Given the description of an element on the screen output the (x, y) to click on. 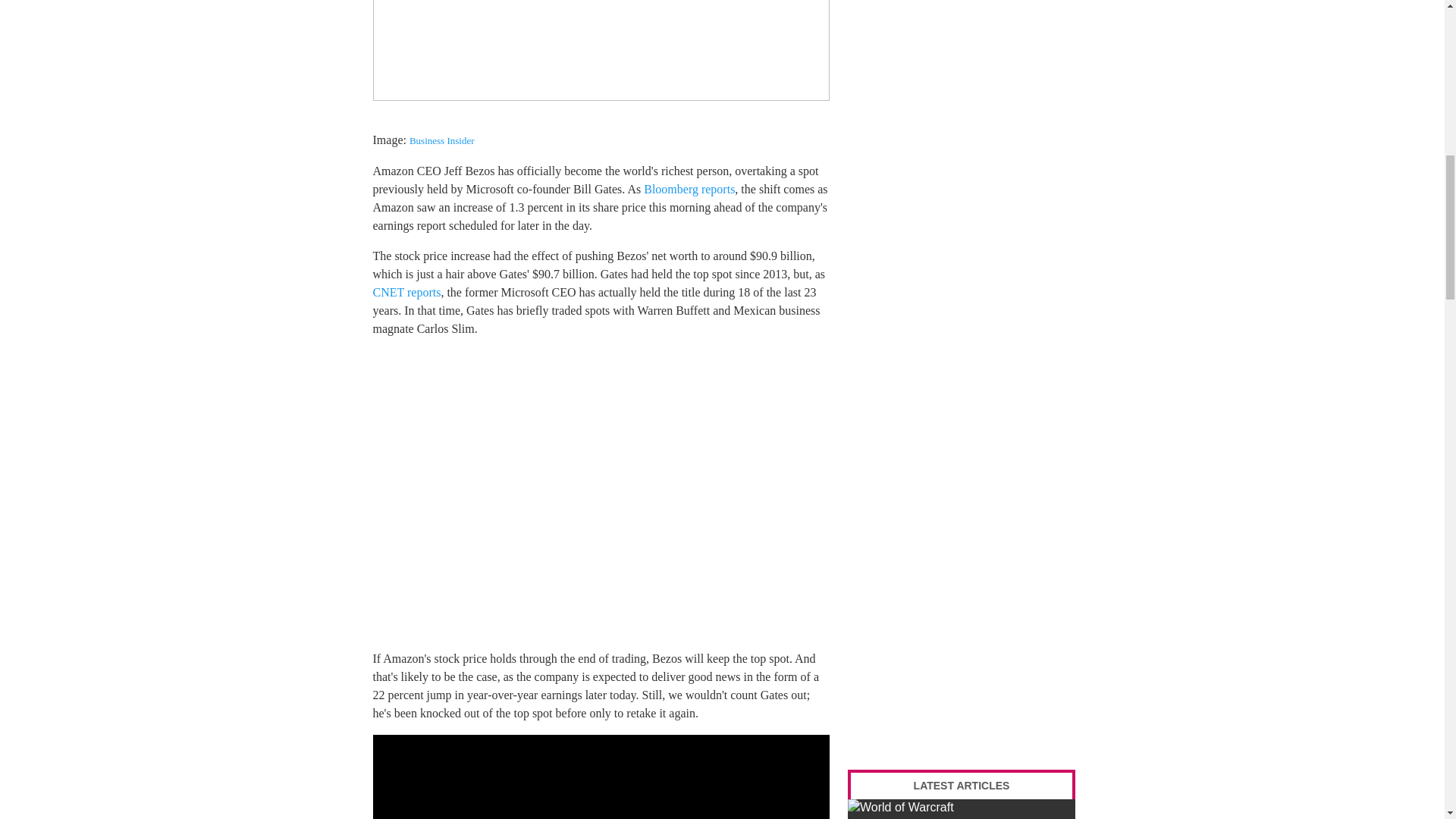
Business Insider (441, 140)
Bloomberg reports (689, 188)
CNET reports (406, 291)
